Given the description of an element on the screen output the (x, y) to click on. 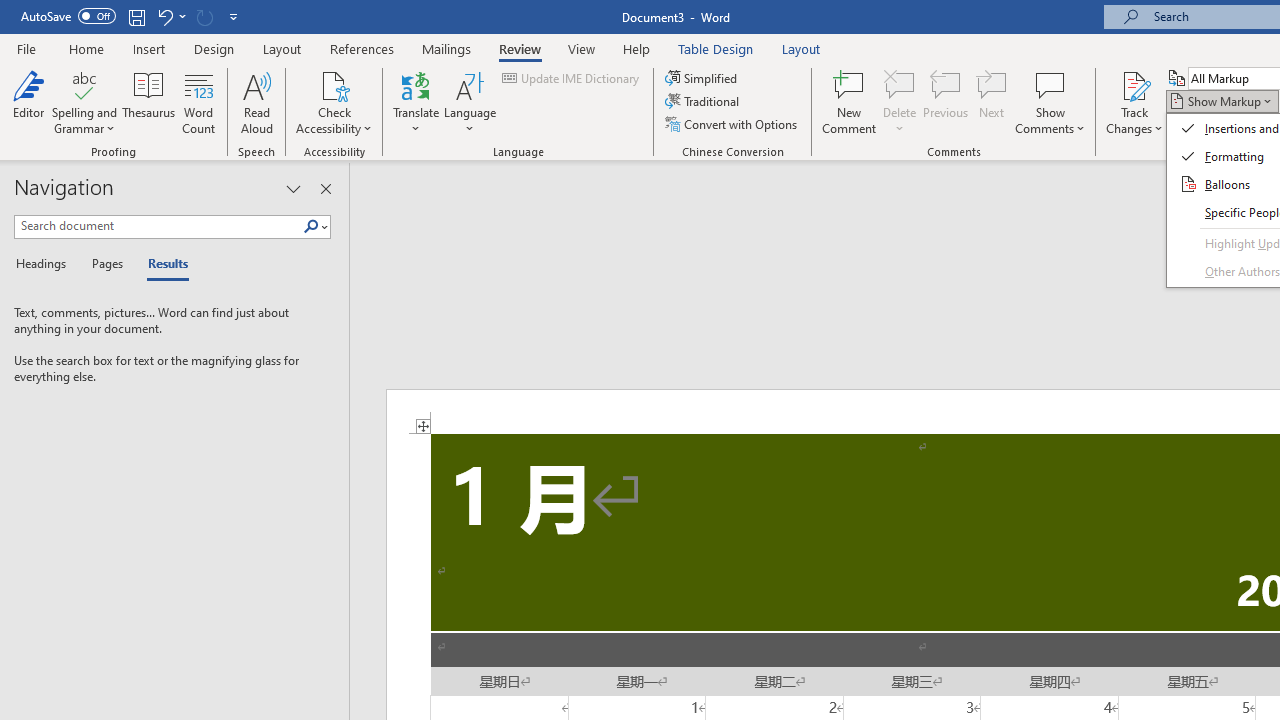
Show Markup (1222, 101)
Track Changes (1134, 84)
Language (470, 102)
Spelling and Grammar (84, 102)
Spelling and Grammar (84, 84)
Read Aloud (256, 102)
Check Accessibility (334, 102)
